Given the description of an element on the screen output the (x, y) to click on. 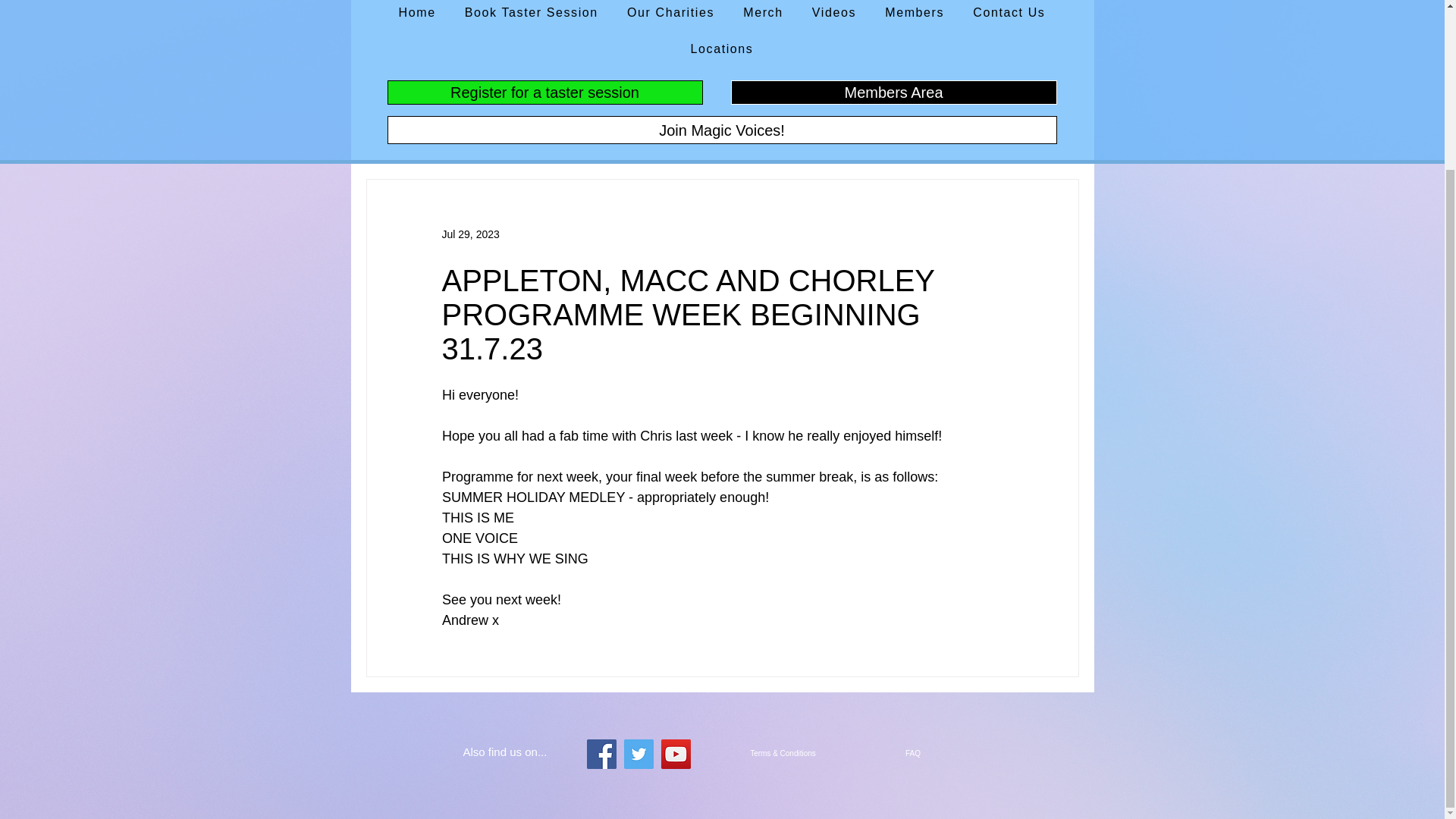
Our Charities (670, 14)
Merch (763, 14)
Home (416, 14)
Jul 29, 2023 (470, 234)
Join Magic Voices! (722, 130)
Book Taster Session (531, 14)
Locations (722, 50)
Videos (833, 14)
Members Area (893, 92)
Contact Us (1008, 14)
